Given the description of an element on the screen output the (x, y) to click on. 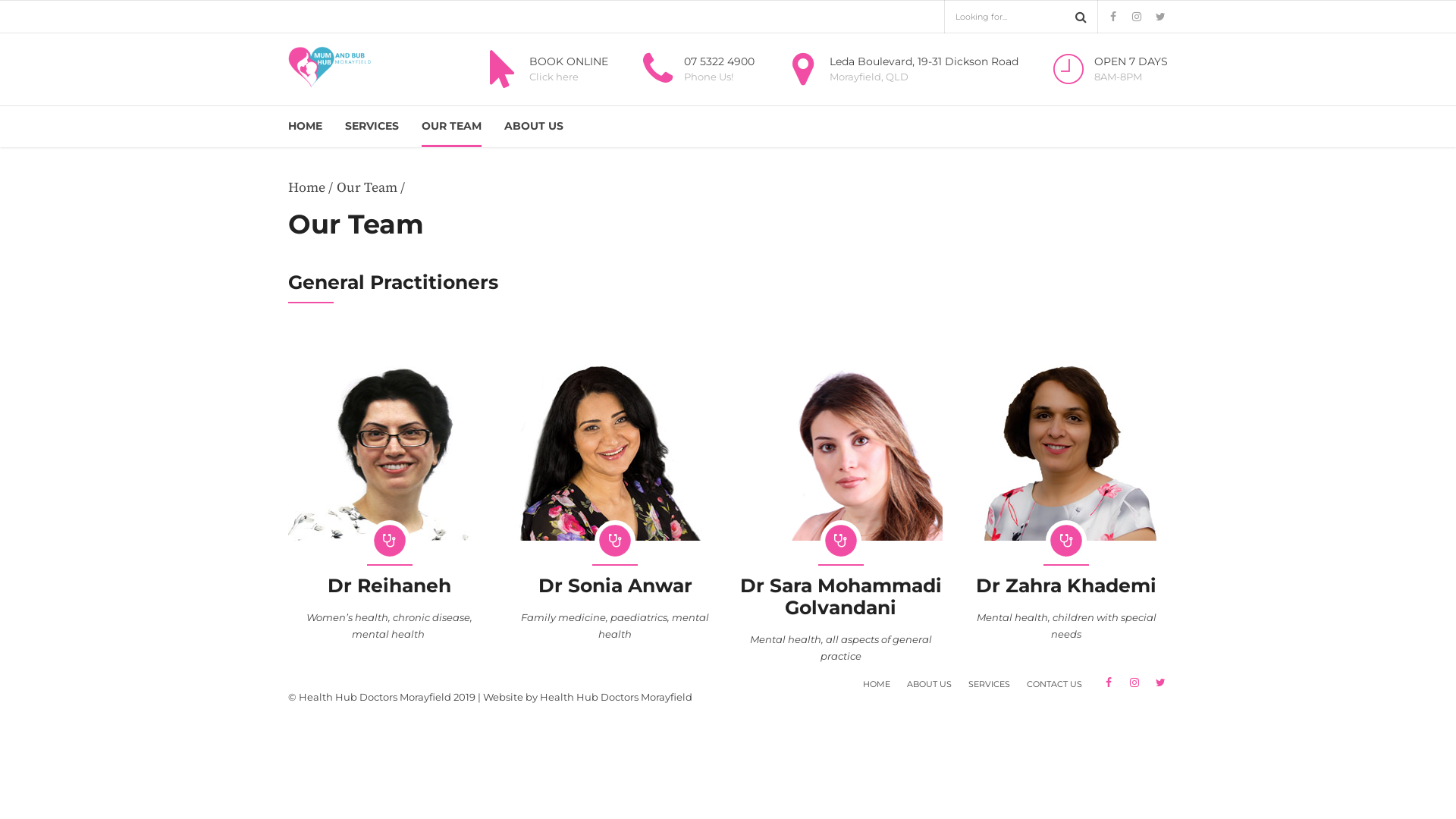
OUR TEAM Element type: text (451, 126)
Leda Boulevard, 19-31 Dickson Road
Morayfield, QLD Element type: text (900, 68)
SERVICES Element type: text (371, 126)
CONTACT US Element type: text (1054, 683)
07 5322 4900
Phone Us! Element type: text (694, 68)
HOME Element type: text (305, 126)
HOME Element type: text (876, 683)
Home Element type: text (306, 187)
SERVICES Element type: text (989, 683)
ABOUT US Element type: text (533, 126)
BOOK ONLINE
Click here Element type: text (544, 68)
ABOUT US Element type: text (928, 683)
